Given the description of an element on the screen output the (x, y) to click on. 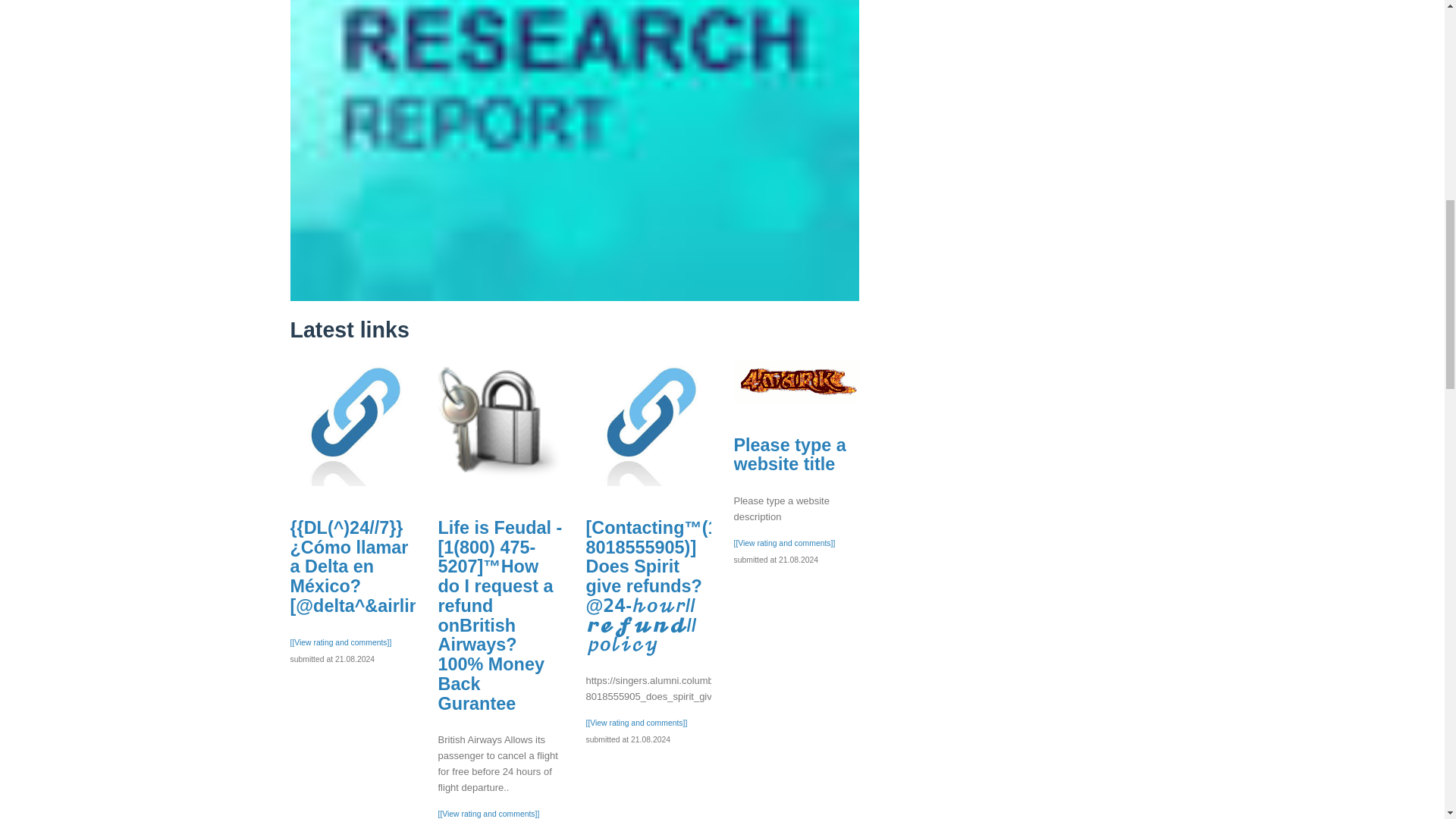
Please type a website title (796, 382)
Please type a website title (789, 454)
Click to view! (574, 15)
